Given the description of an element on the screen output the (x, y) to click on. 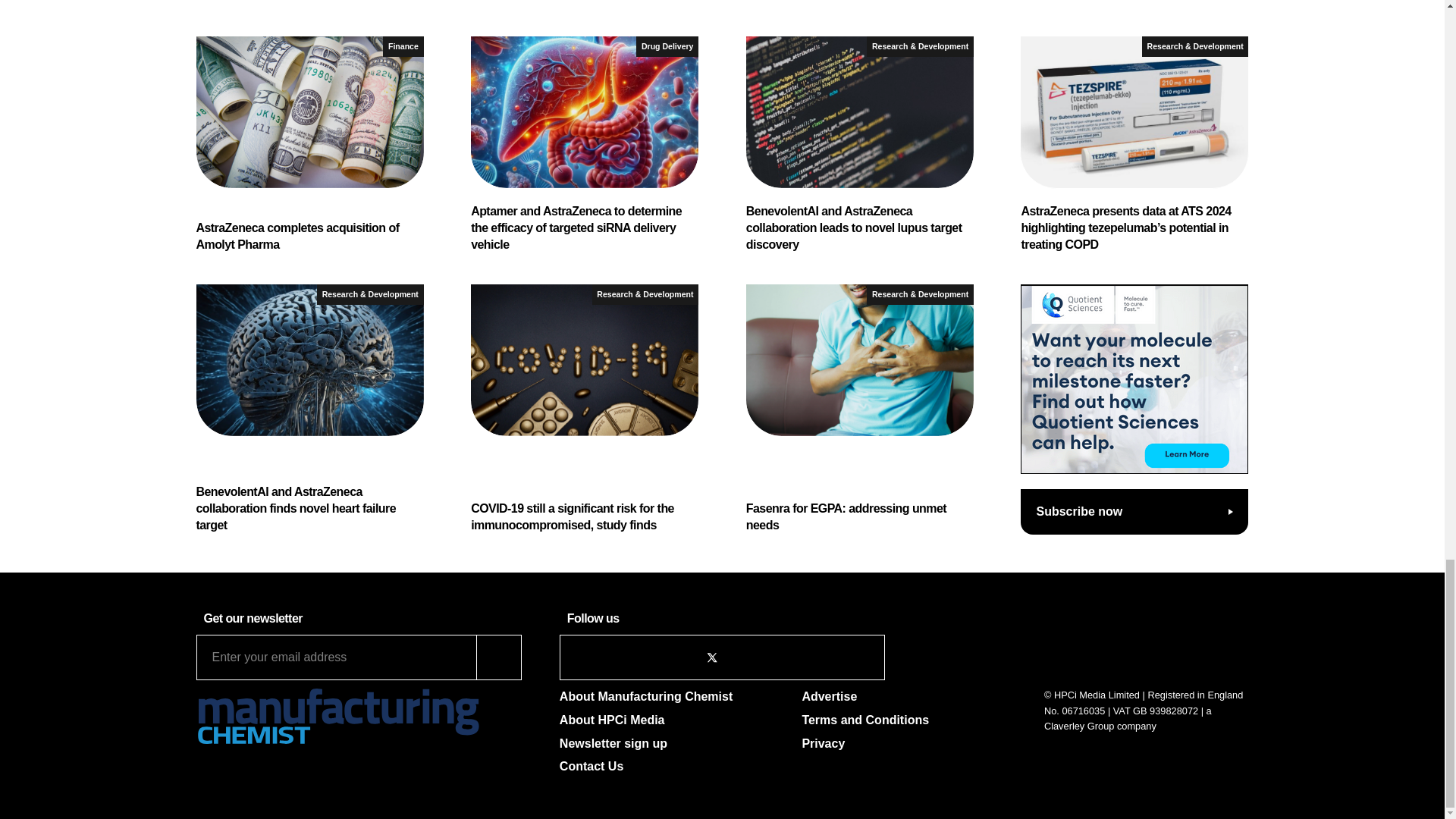
AstraZeneca completes acquisition of Amolyt Pharma (309, 144)
Finance (402, 46)
Follow Manufacturing Chemist on X (711, 656)
Drug Delivery (667, 46)
